Given the description of an element on the screen output the (x, y) to click on. 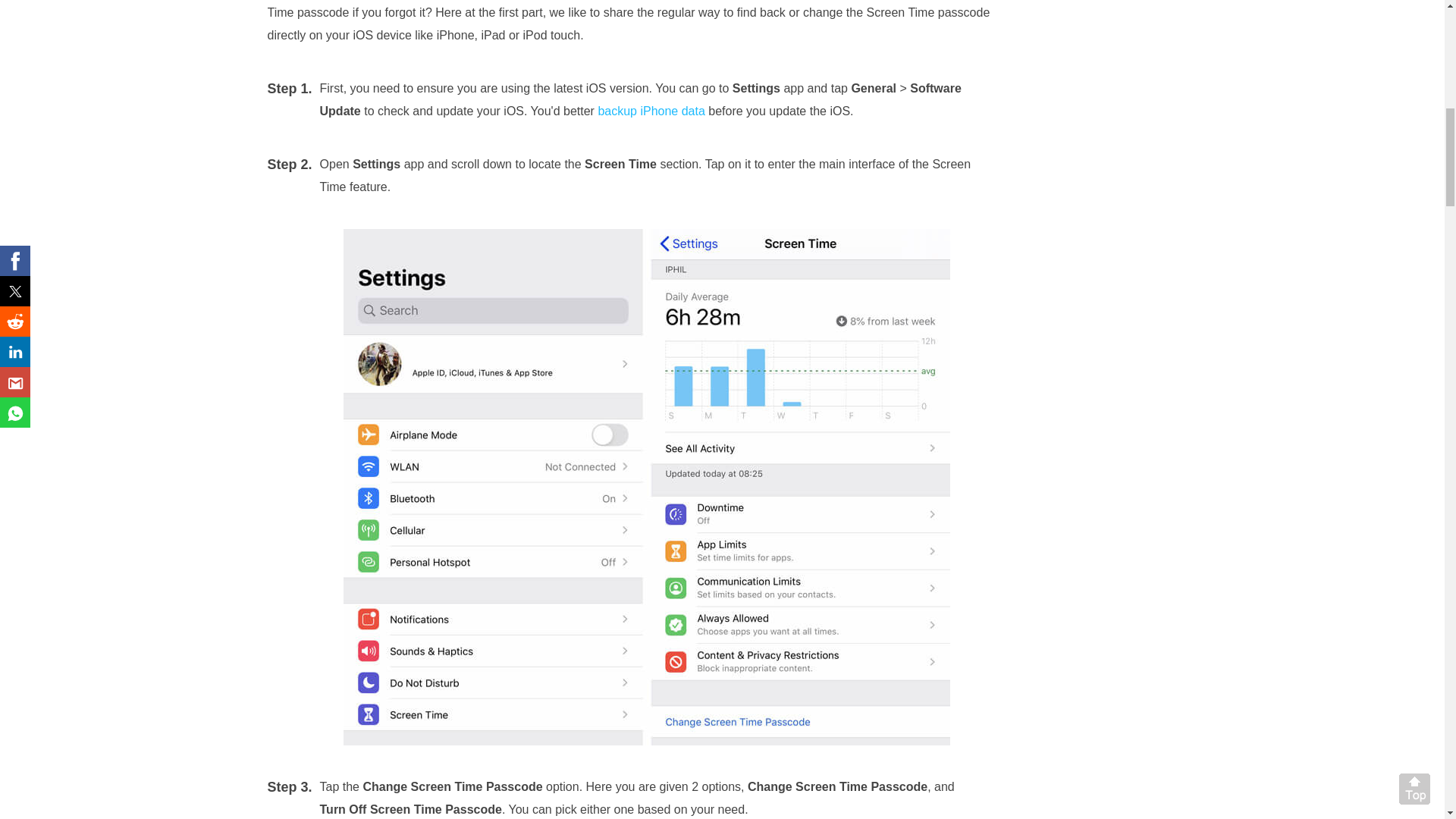
backup iPhone data (650, 110)
